Given the description of an element on the screen output the (x, y) to click on. 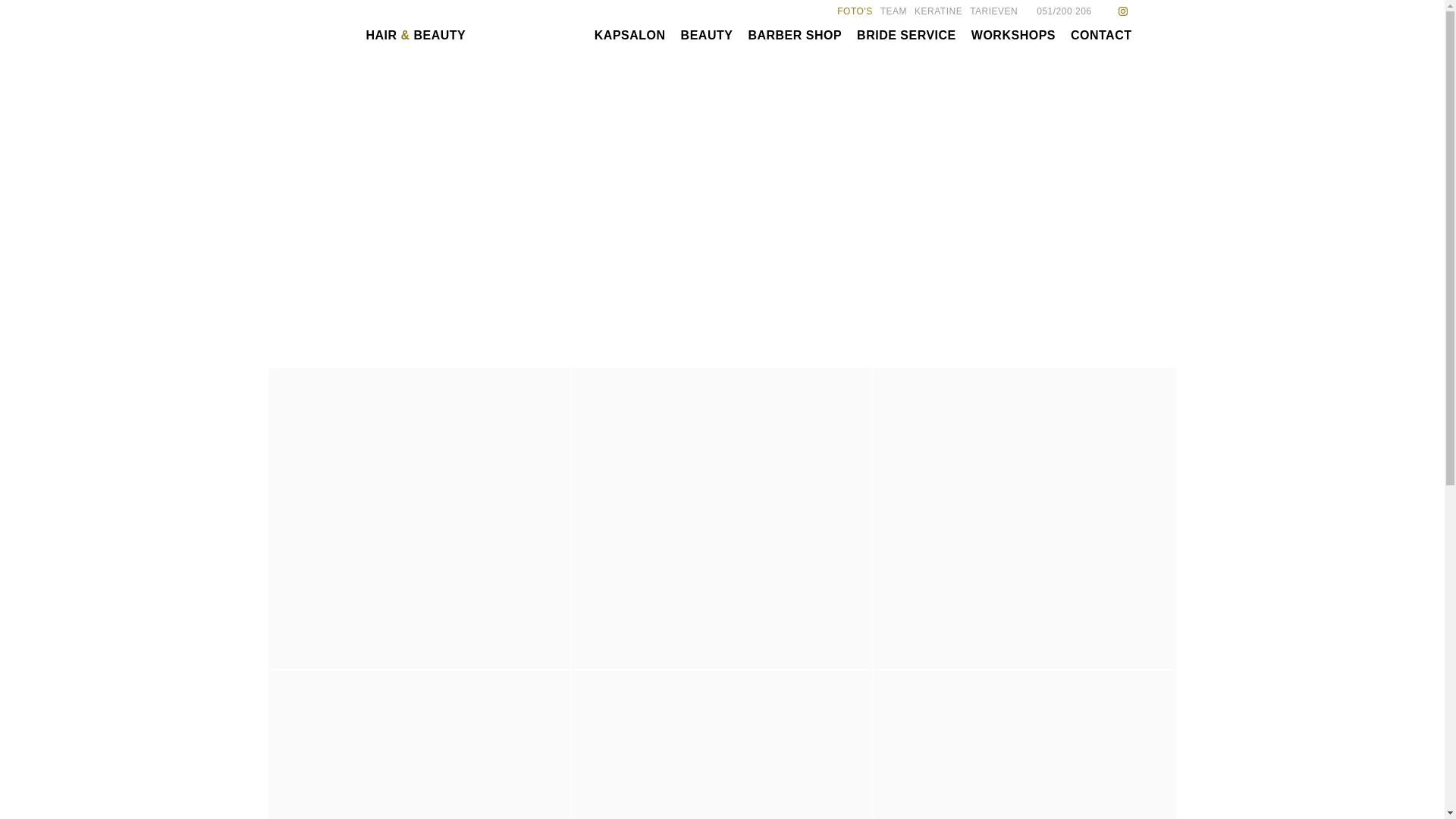
Overslaan en naar de algemene inhoud gaan Element type: text (107, 0)
BARBER SHOP Element type: text (794, 34)
WORKSHOPS Element type: text (1013, 34)
051/200 206 Element type: text (1058, 10)
TARIEVEN Element type: text (993, 10)
CONTACT Element type: text (1101, 34)
KERATINE Element type: text (938, 10)
BRIDE SERVICE Element type: text (906, 34)
FOTO'S Element type: text (854, 10)
BEAUTY Element type: text (706, 34)
KAPSALON Element type: text (629, 34)
FACEBOOK Element type: text (1104, 10)
TEAM Element type: text (893, 10)
BQT HAIR & BEAUTY Element type: text (391, 33)
INSTAGRAM Element type: text (1124, 10)
